Given the description of an element on the screen output the (x, y) to click on. 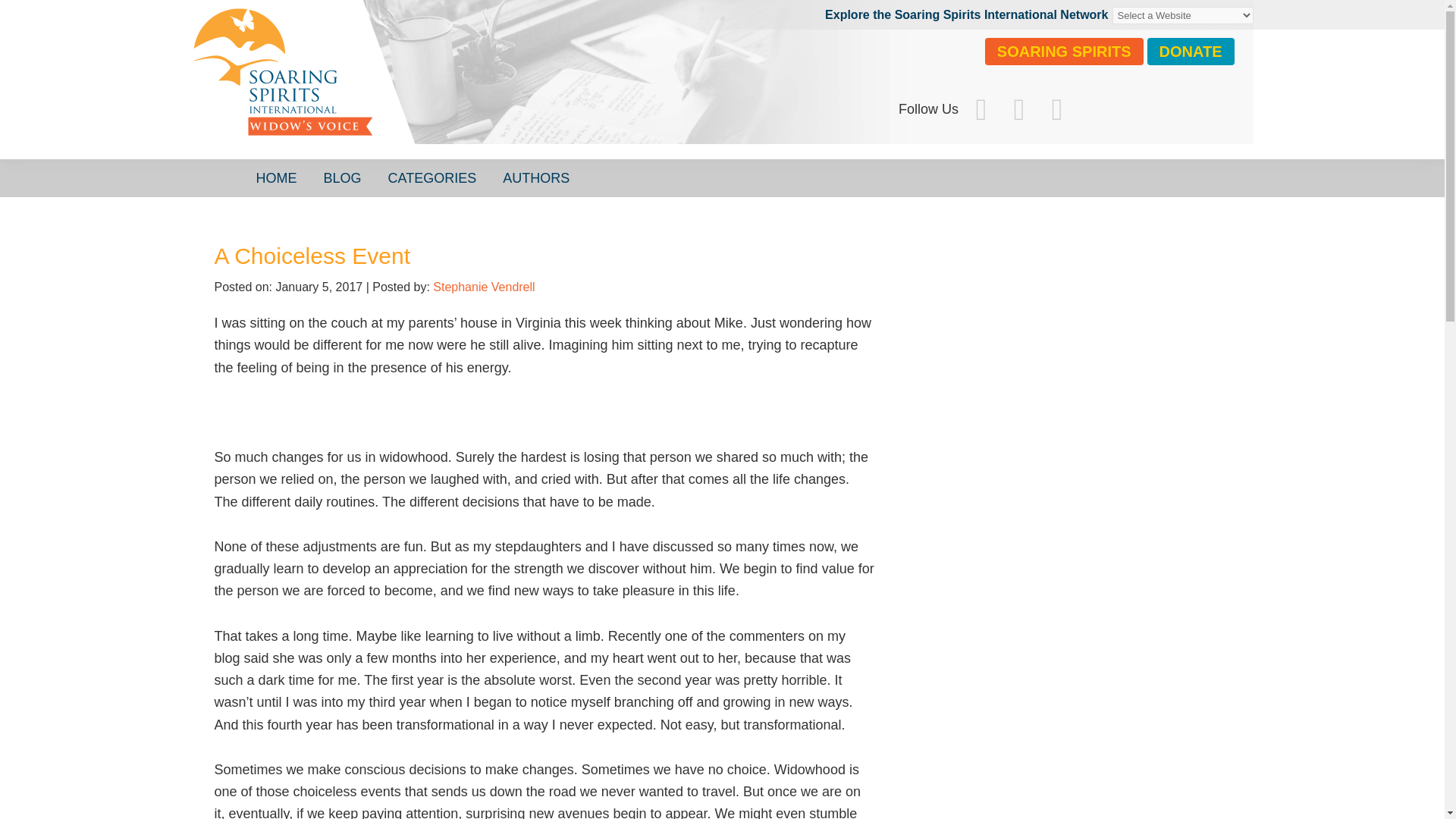
Instagram (1019, 109)
Facebook (981, 109)
DONATE (1190, 51)
Stephanie Vendrell (483, 286)
YouTube (1056, 109)
Homepage (418, 87)
CATEGORIES (432, 177)
BLOG (342, 177)
AUTHORS (536, 177)
HOME (275, 177)
Widow's Voice (418, 87)
SOARING SPIRITS (1063, 51)
